Given the description of an element on the screen output the (x, y) to click on. 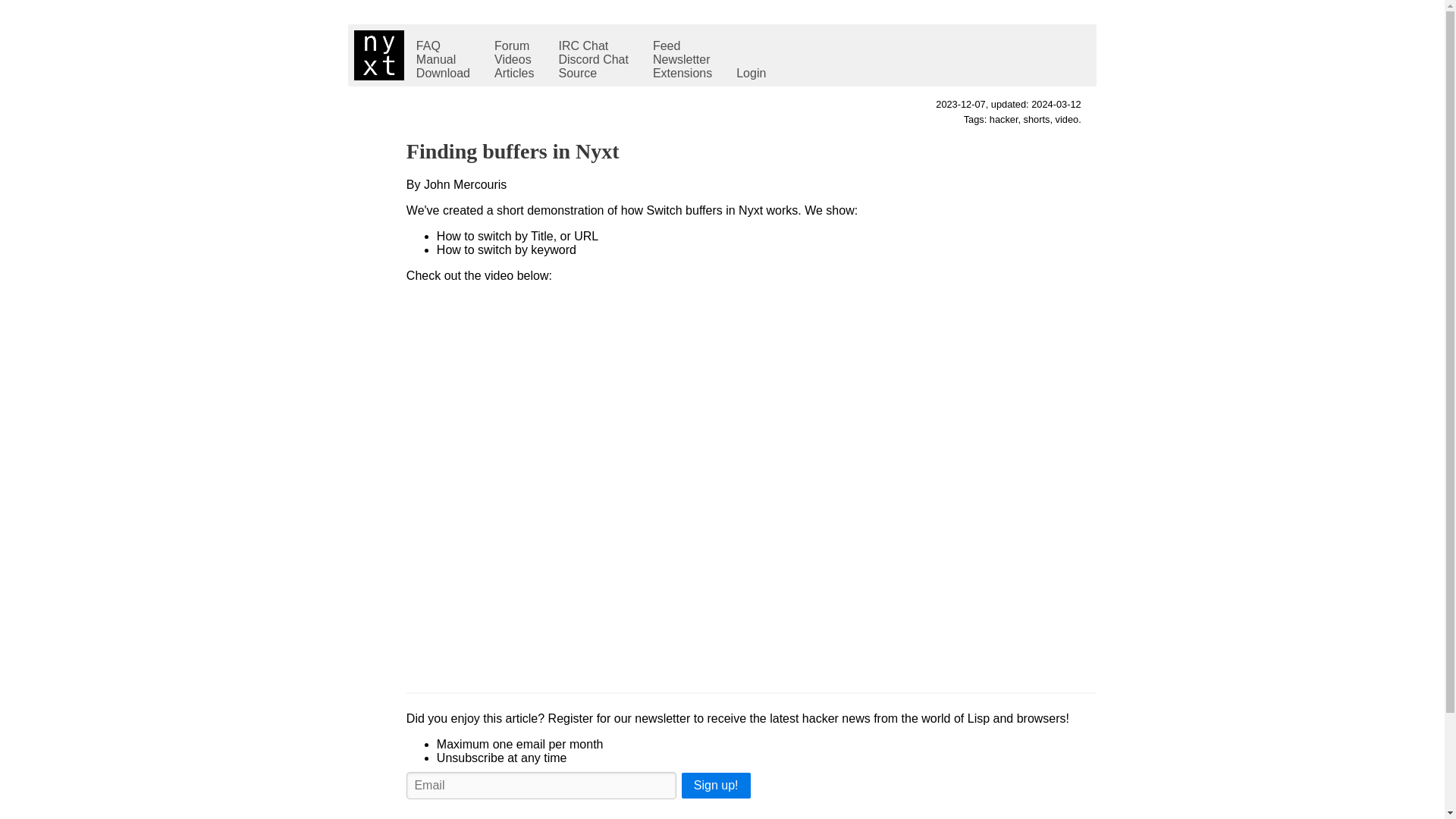
Manual (442, 59)
IRC Chat (593, 46)
Download (442, 73)
Articles (513, 73)
Extensions (681, 73)
Source (593, 73)
Discord Chat (593, 59)
Forum (513, 46)
Newsletter (681, 59)
Feed (681, 46)
Videos (513, 59)
FAQ (442, 46)
Sign up! (716, 785)
